Given the description of an element on the screen output the (x, y) to click on. 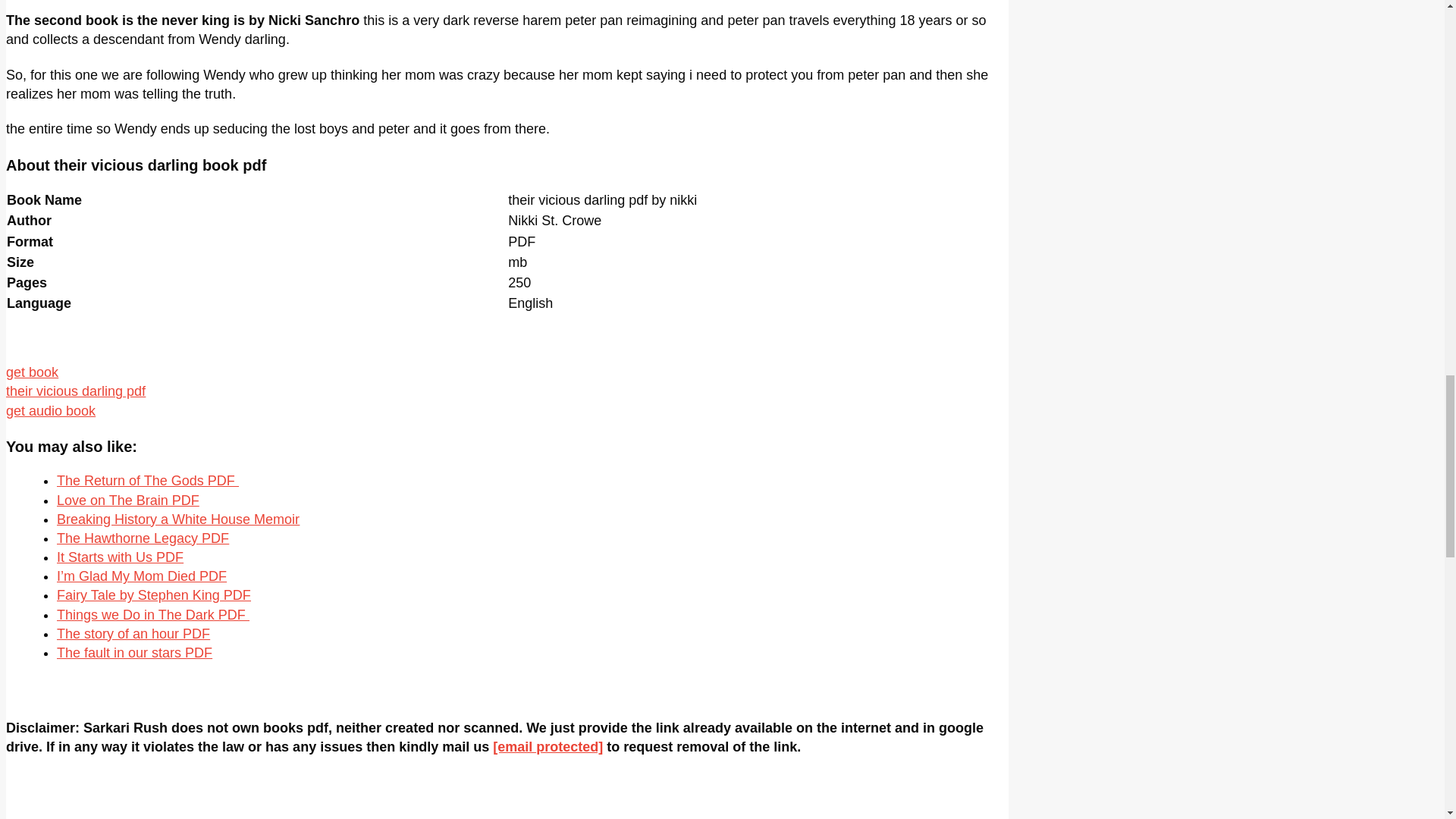
It Starts with Us PDF (119, 557)
Love on The Brain PDF (127, 500)
Fairy Tale by Stephen King PDF (153, 595)
The Return of The Gods PDF  (147, 480)
The Hawthorne Legacy PDF (142, 538)
The fault in our stars PDF (134, 652)
Things we Do in The Dark PDF  (152, 614)
their vicious darling pdf (75, 391)
get book (31, 372)
The story of an hour PDF (132, 633)
Breaking History a White House Memoir (177, 519)
get audio book (50, 410)
